Given the description of an element on the screen output the (x, y) to click on. 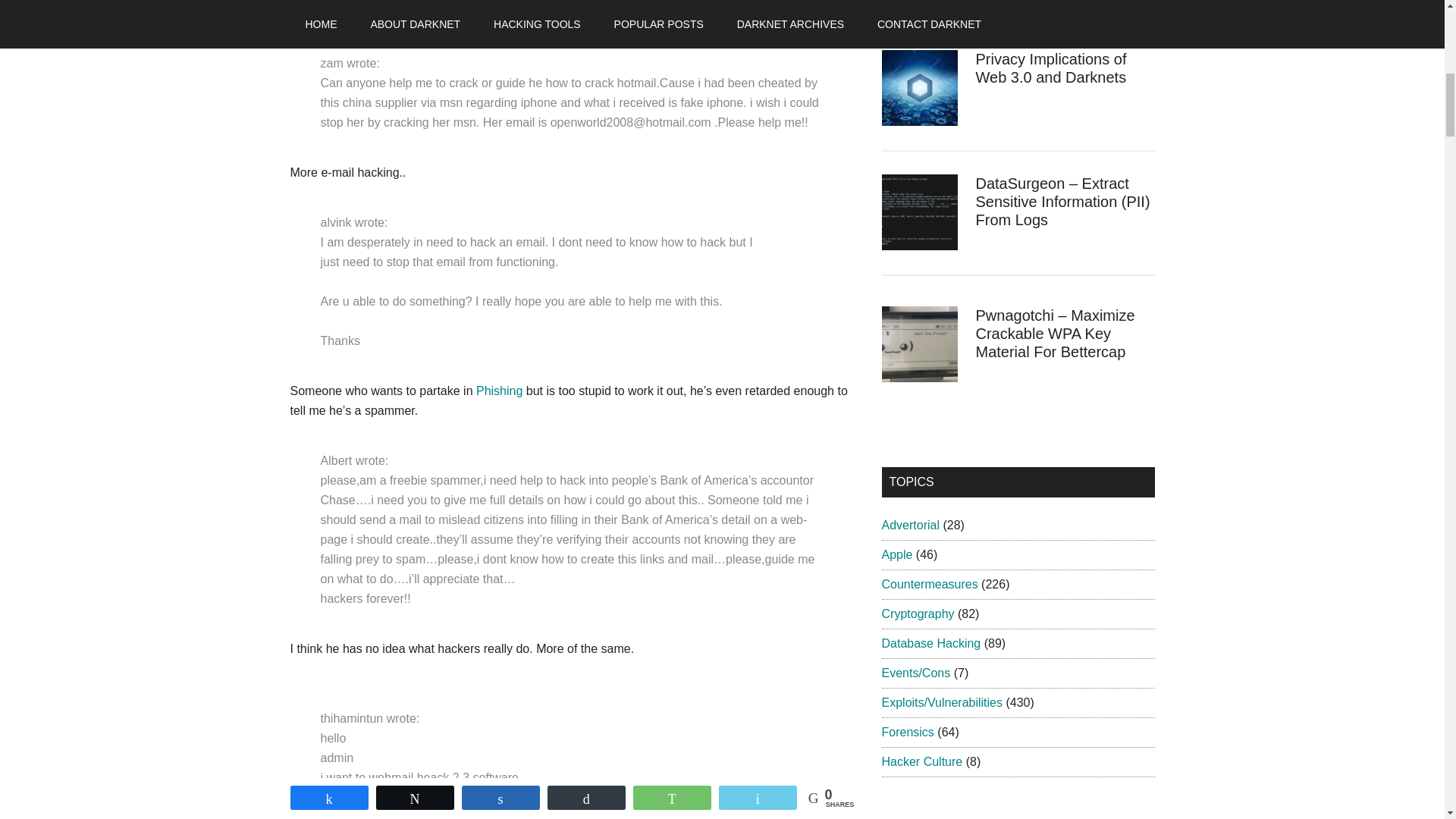
Phishing (500, 390)
